Given the description of an element on the screen output the (x, y) to click on. 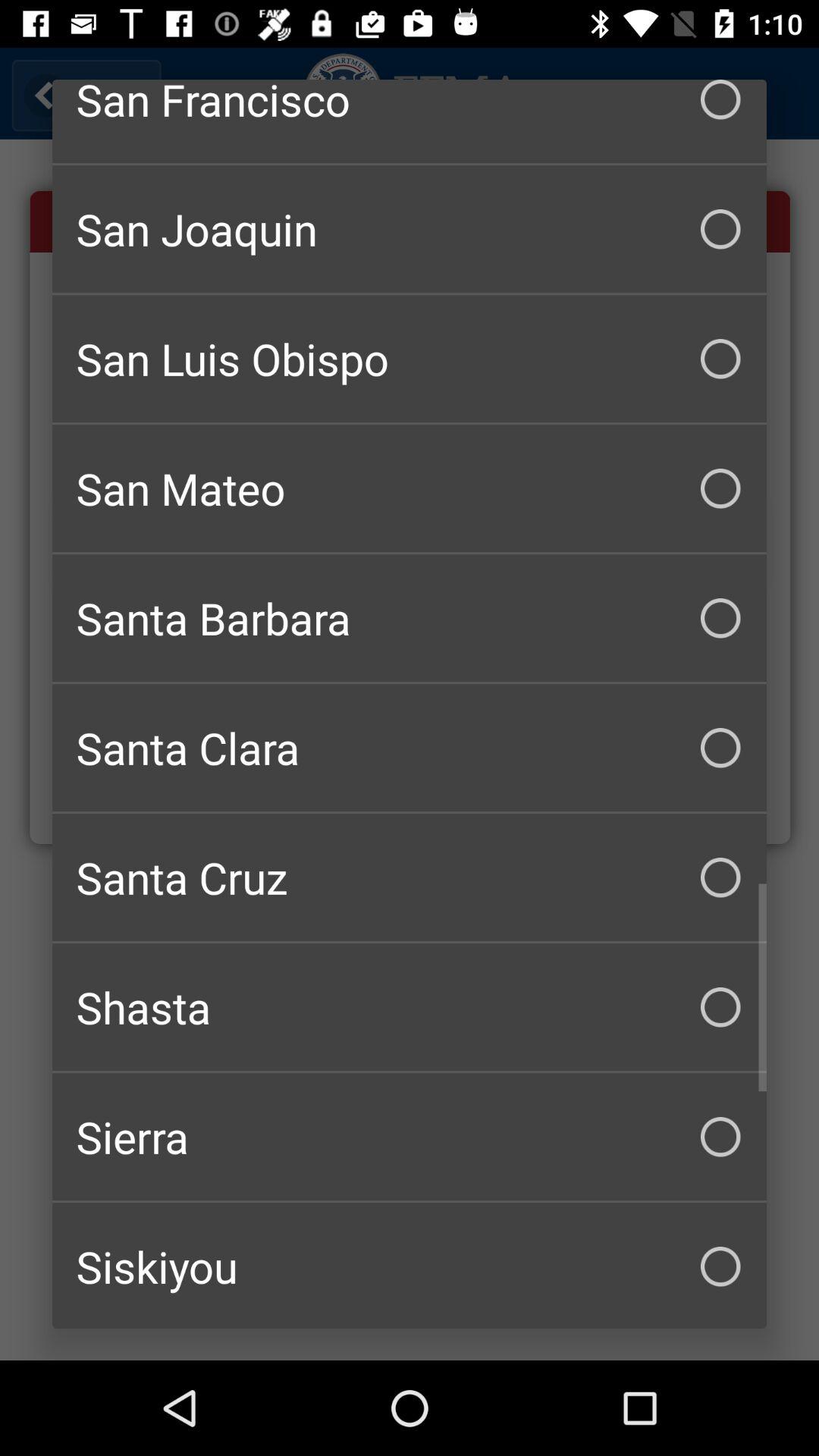
swipe to san luis obispo item (409, 358)
